Given the description of an element on the screen output the (x, y) to click on. 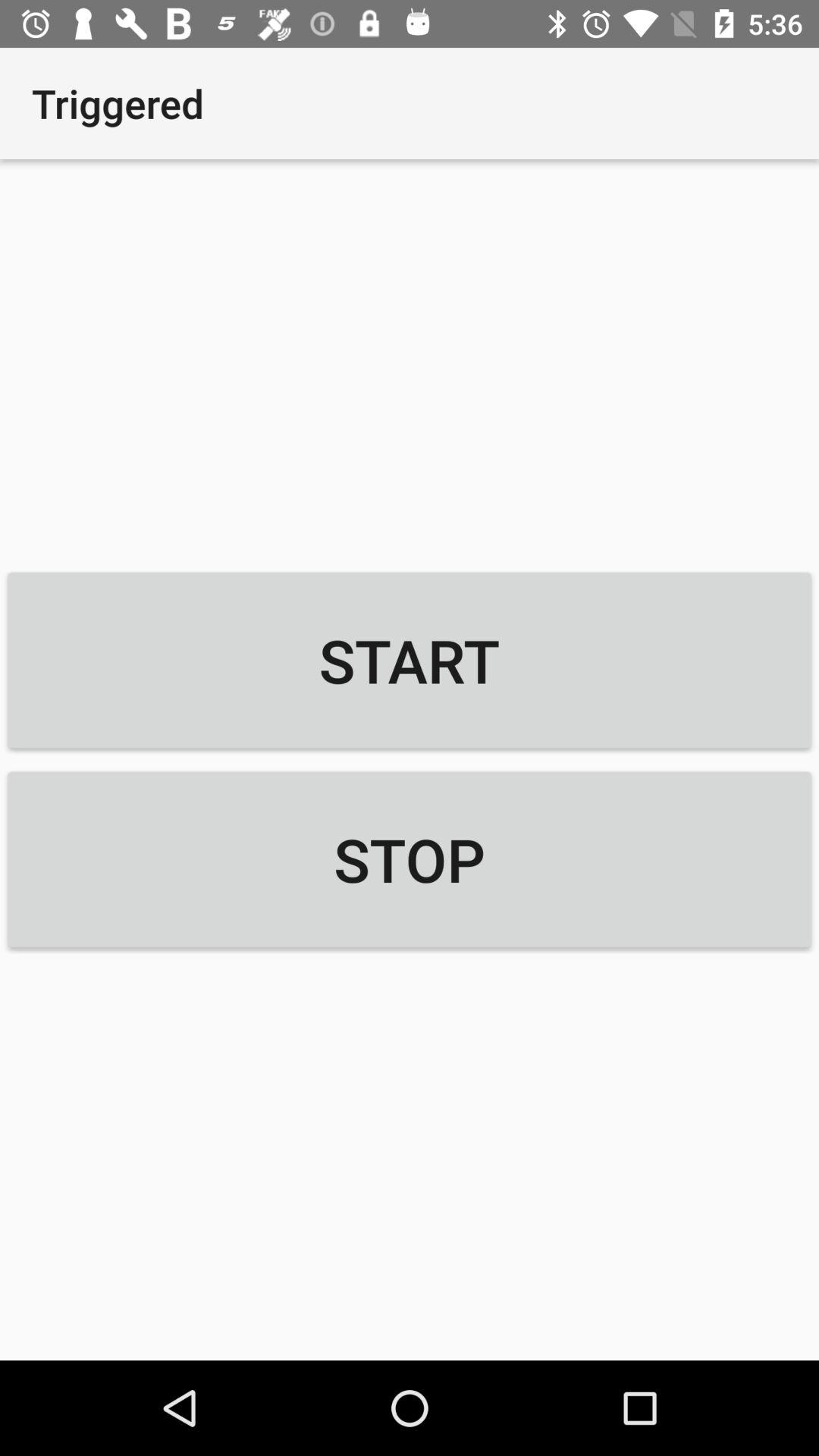
click stop icon (409, 858)
